Given the description of an element on the screen output the (x, y) to click on. 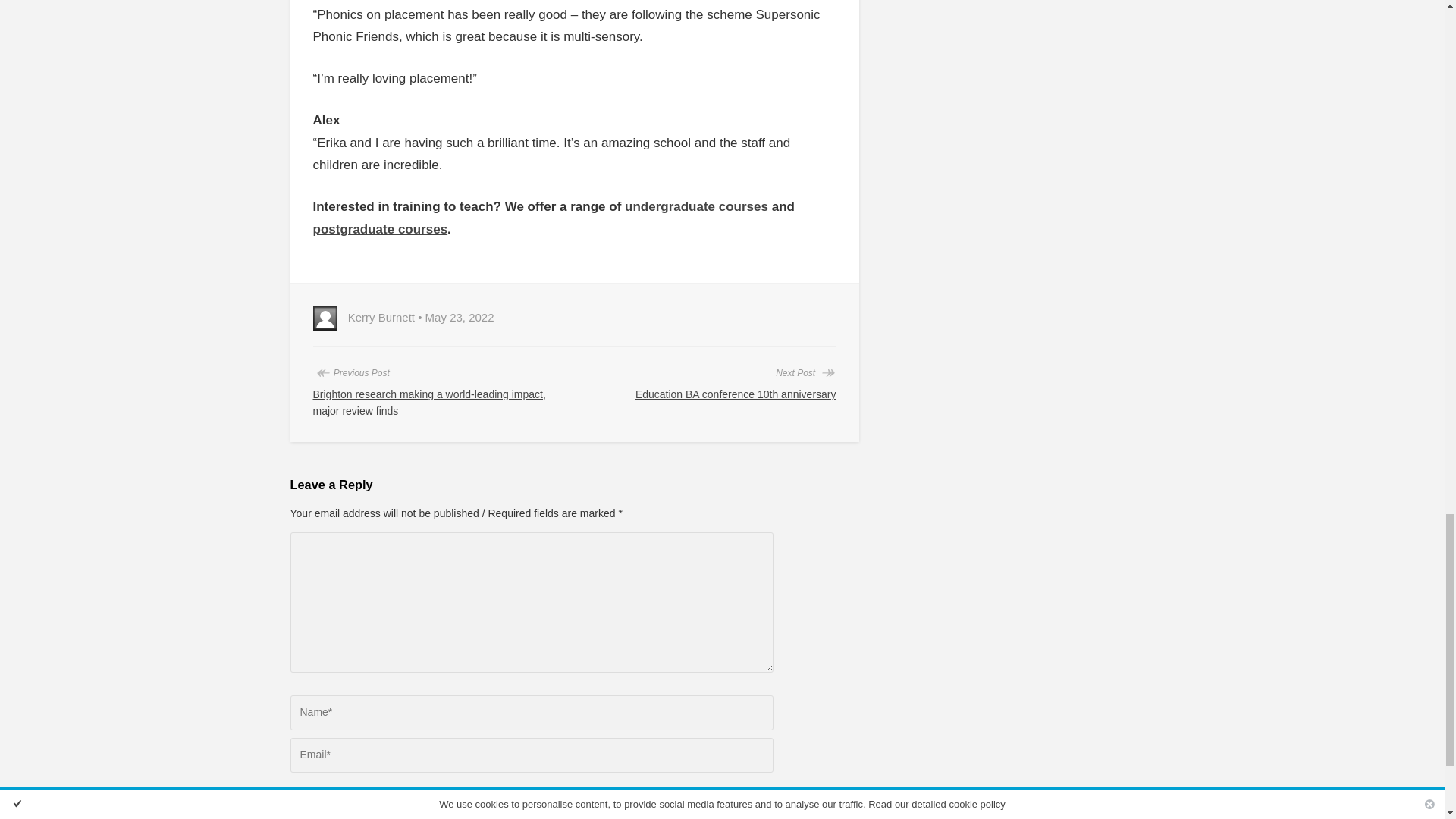
Education BA conference 10th anniversary (734, 394)
Post Comment (335, 817)
yes (294, 796)
Post Comment (335, 817)
undergraduate courses (696, 206)
postgraduate courses (379, 228)
